Given the description of an element on the screen output the (x, y) to click on. 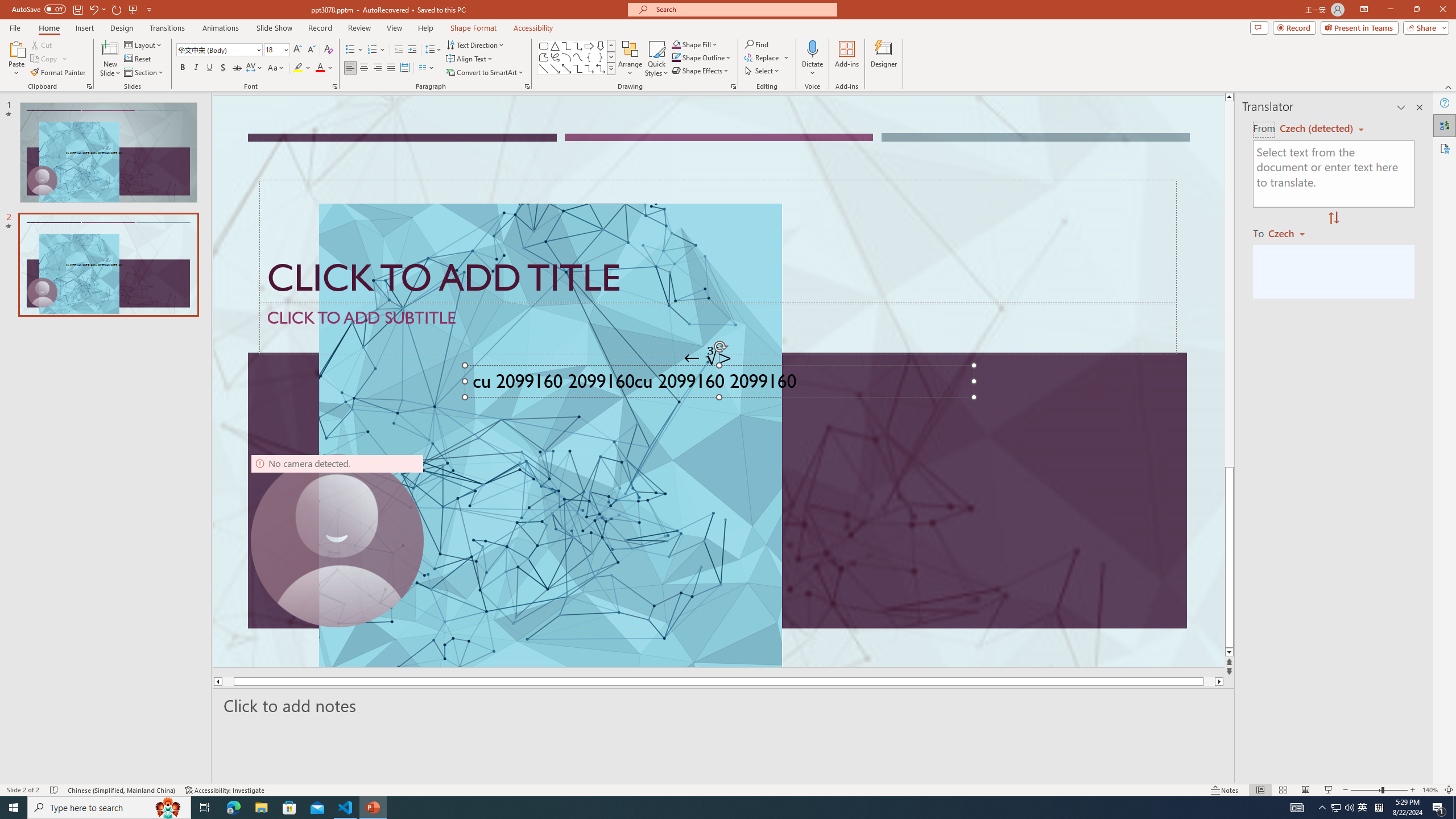
Subtitle TextBox (717, 328)
